Given the description of an element on the screen output the (x, y) to click on. 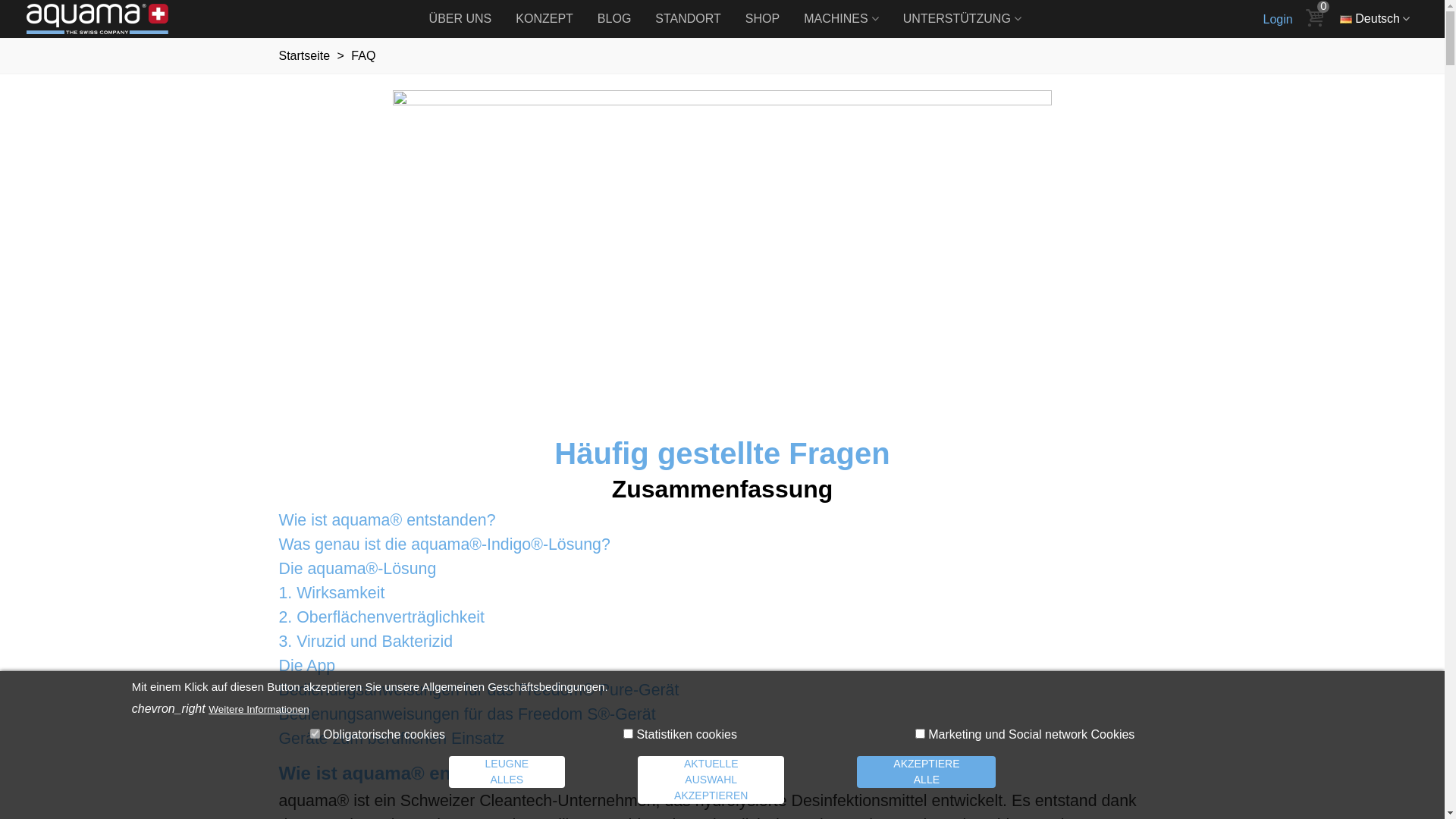
LEUGNE ALLES Element type: text (506, 771)
Die App Element type: text (307, 665)
SHOP Element type: text (762, 18)
3. Viruzid und Bakterizid Element type: text (366, 641)
KONZEPT Element type: text (544, 18)
STANDORT Element type: text (688, 18)
MACHINES Element type: text (840, 18)
AKZEPTIERE ALLE Element type: text (925, 771)
Login Element type: text (1278, 18)
Startseite Element type: text (306, 55)
AKTUELLE AUSWAHL AKZEPTIEREN Element type: text (710, 779)
Weitere Informationen Element type: text (258, 709)
0 Element type: text (1316, 18)
1. Wirksamkeit Element type: text (332, 592)
aquama.ch Element type: hover (109, 18)
BLOG Element type: text (614, 18)
